Given the description of an element on the screen output the (x, y) to click on. 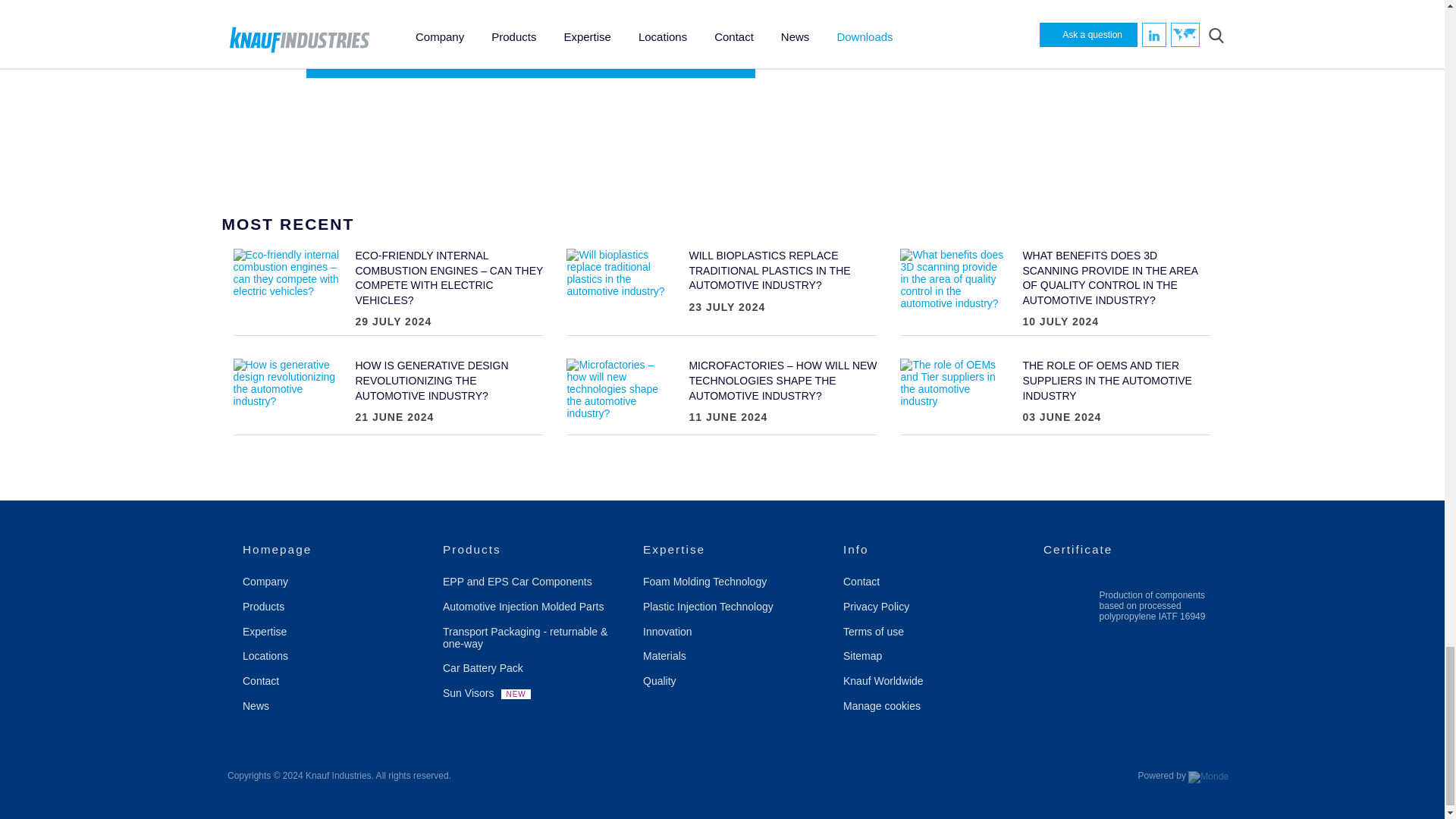
home (534, 549)
Expertise (735, 549)
home (335, 549)
